Given the description of an element on the screen output the (x, y) to click on. 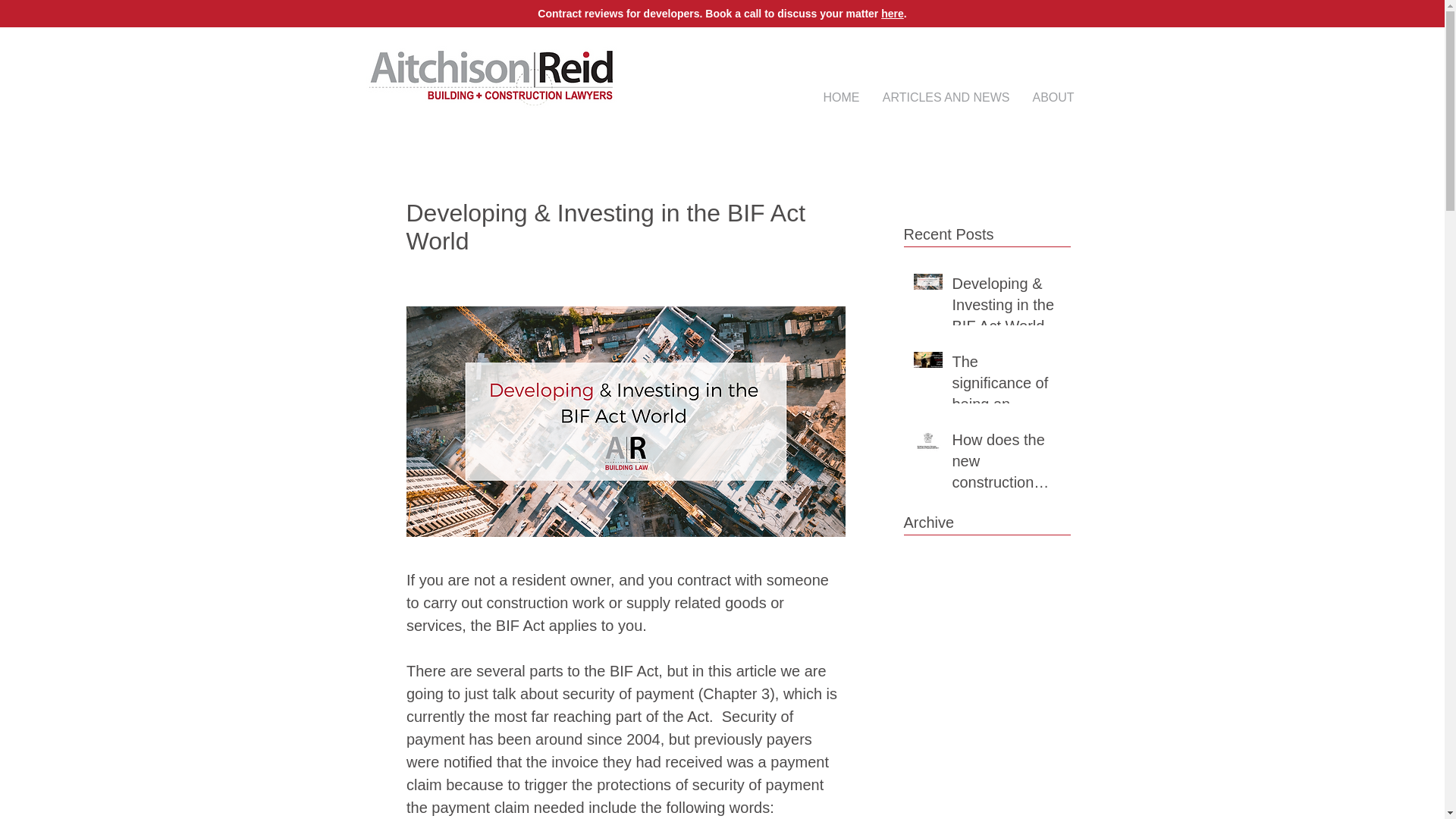
ARTICLES AND NEWS (945, 97)
ABOUT (1052, 97)
How does the new construction legislation affect developers? (1006, 463)
HOME (840, 97)
here (892, 13)
